Given the description of an element on the screen output the (x, y) to click on. 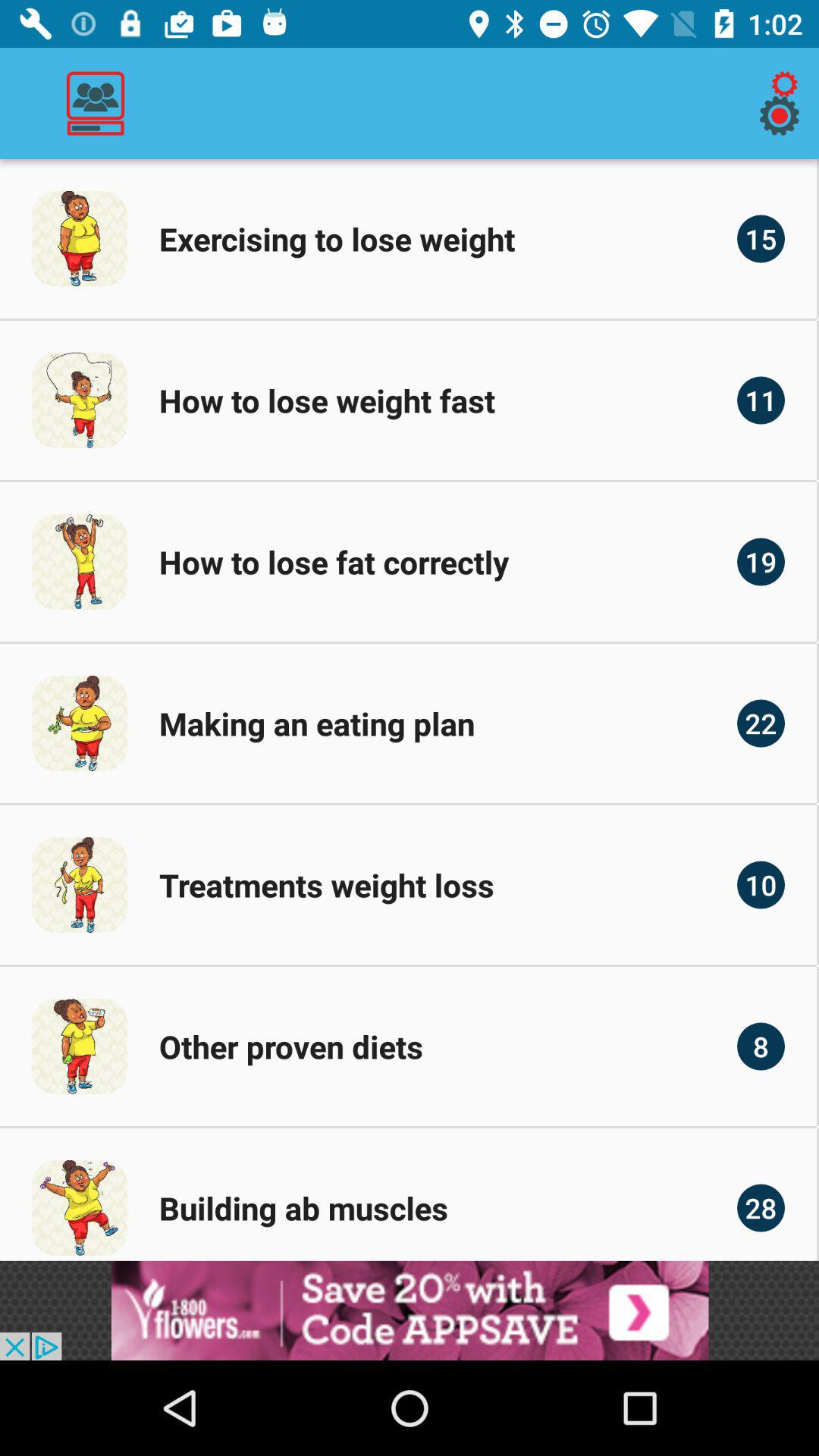
advertisement display (409, 1310)
